Given the description of an element on the screen output the (x, y) to click on. 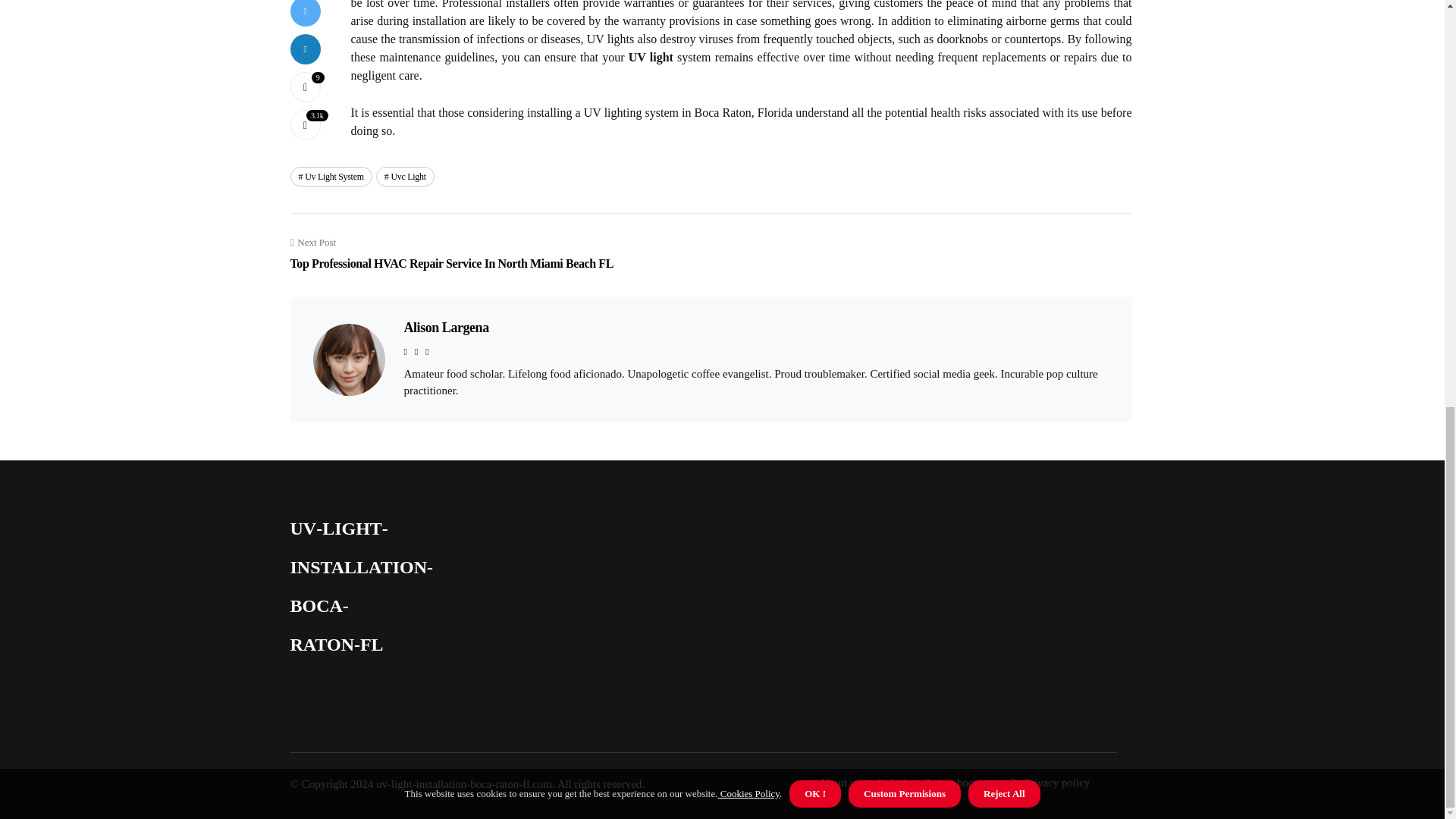
Uvc Light (404, 176)
Alison Largena (445, 327)
Uv Light System (330, 176)
